Given the description of an element on the screen output the (x, y) to click on. 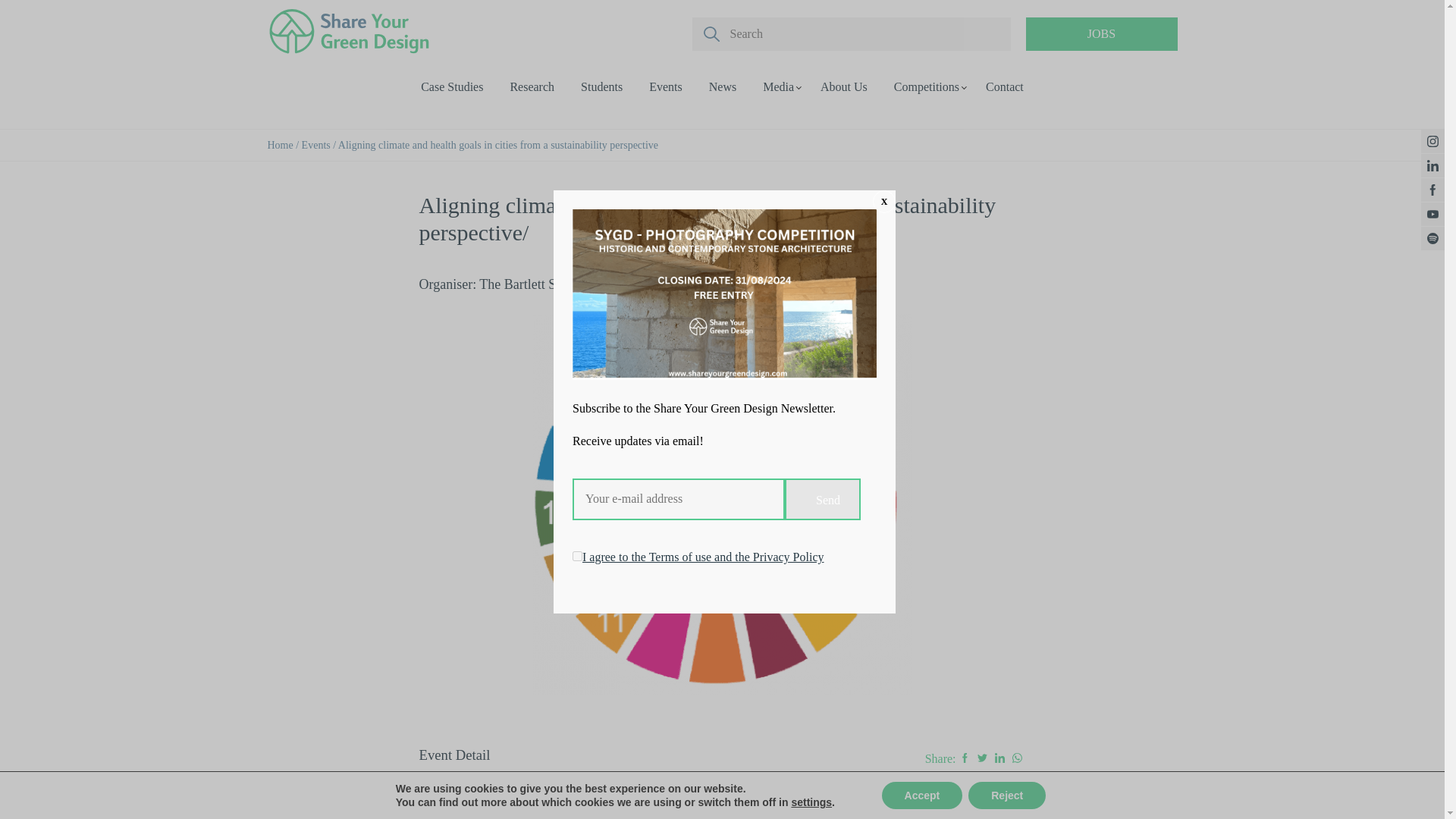
News (722, 86)
Case Studies (451, 86)
Spotify (1432, 238)
Events (665, 86)
Home (279, 144)
JOBS (1100, 33)
Instagram (1432, 141)
Send (822, 499)
on (577, 556)
About Us (844, 86)
Media (777, 86)
Facebook (1432, 189)
Search (715, 38)
Events (315, 144)
Research (531, 86)
